Given the description of an element on the screen output the (x, y) to click on. 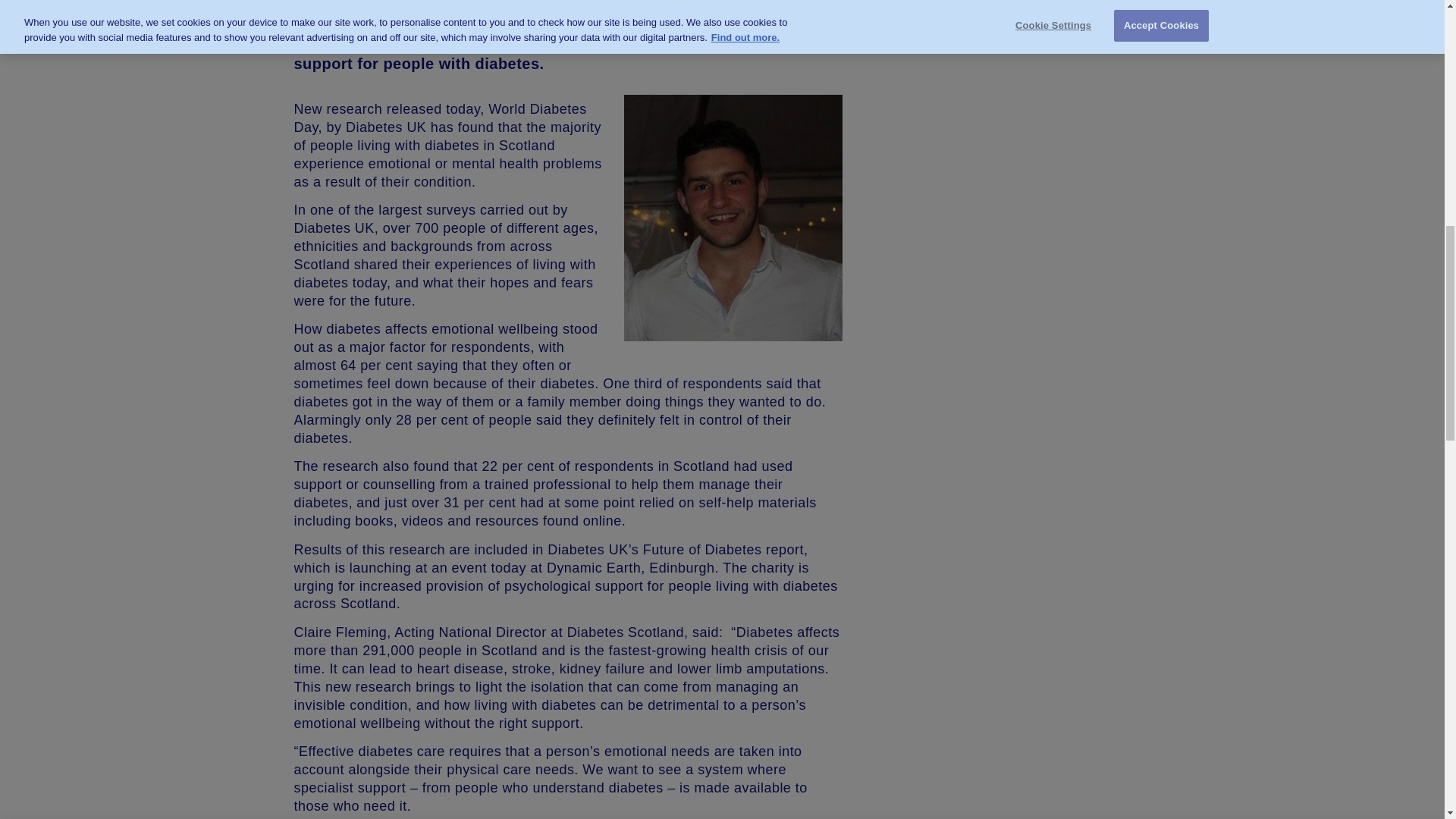
Play now (1025, 119)
World Diabetes Day 2017 (568, 4)
